Given the description of an element on the screen output the (x, y) to click on. 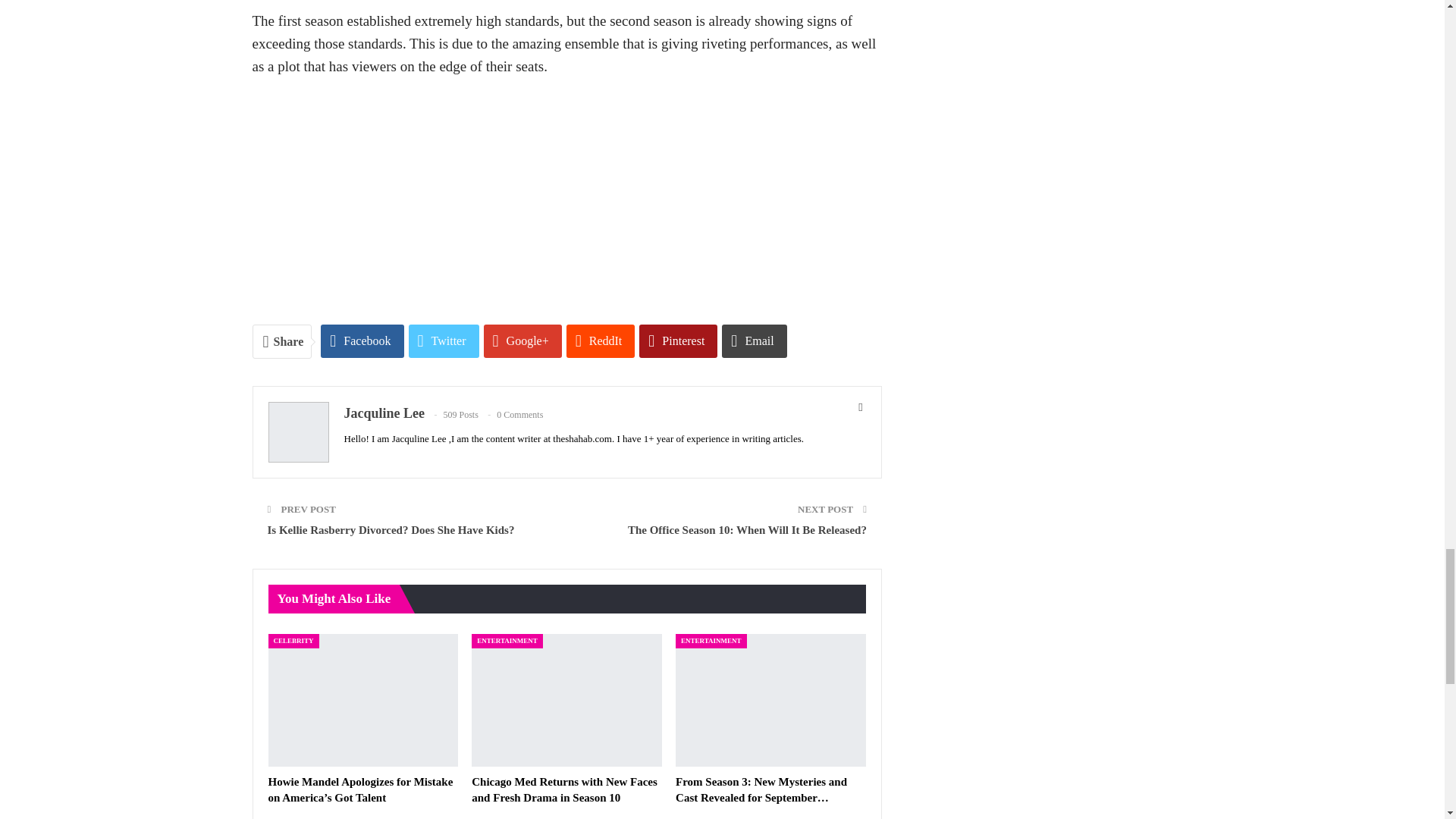
Twitter (444, 340)
Facebook (361, 340)
